Given the description of an element on the screen output the (x, y) to click on. 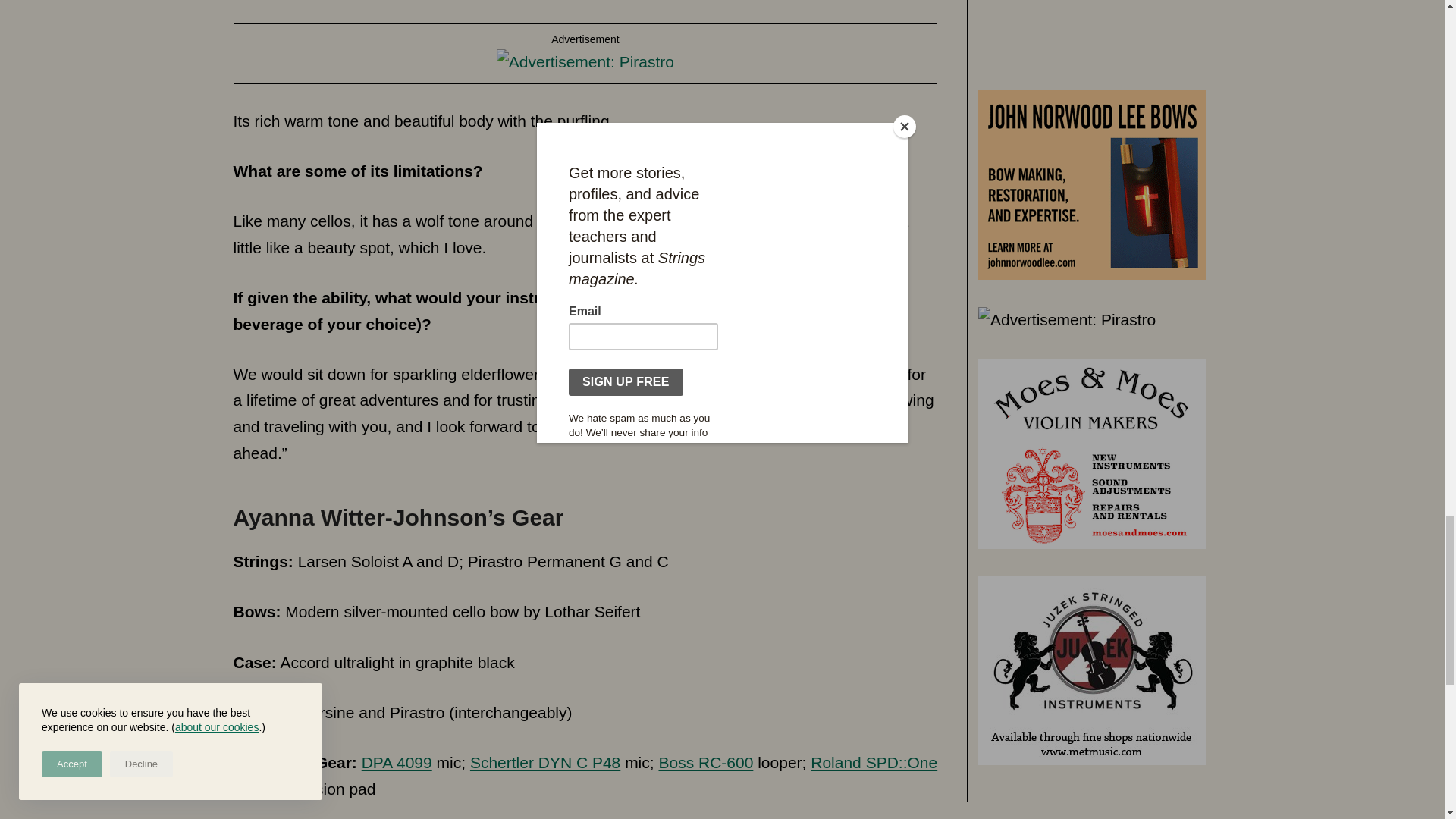
DPA 4099 (396, 762)
Advertisement: Pirastro (585, 62)
